Given the description of an element on the screen output the (x, y) to click on. 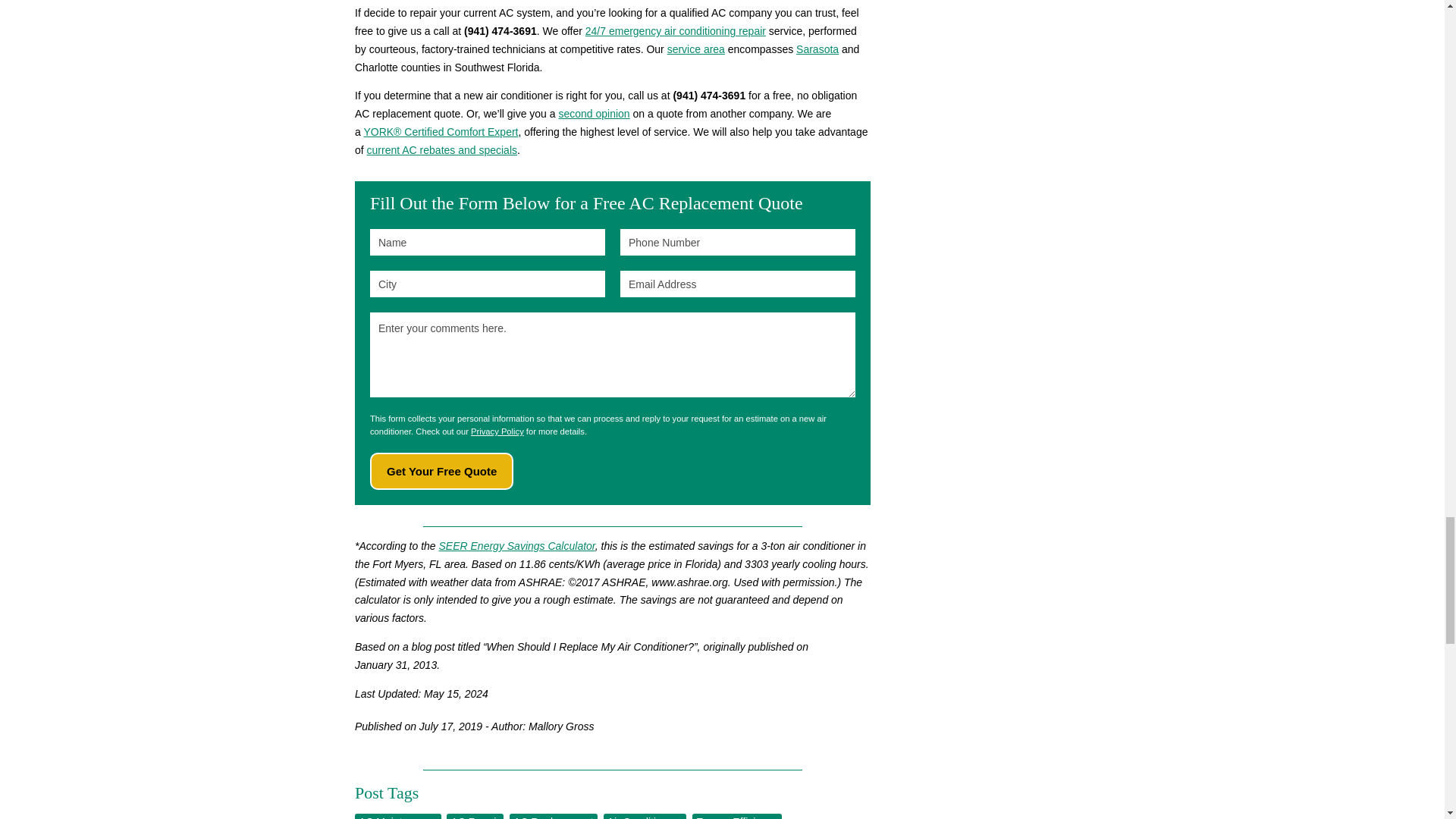
Get Your Free Quote (441, 470)
